Given the description of an element on the screen output the (x, y) to click on. 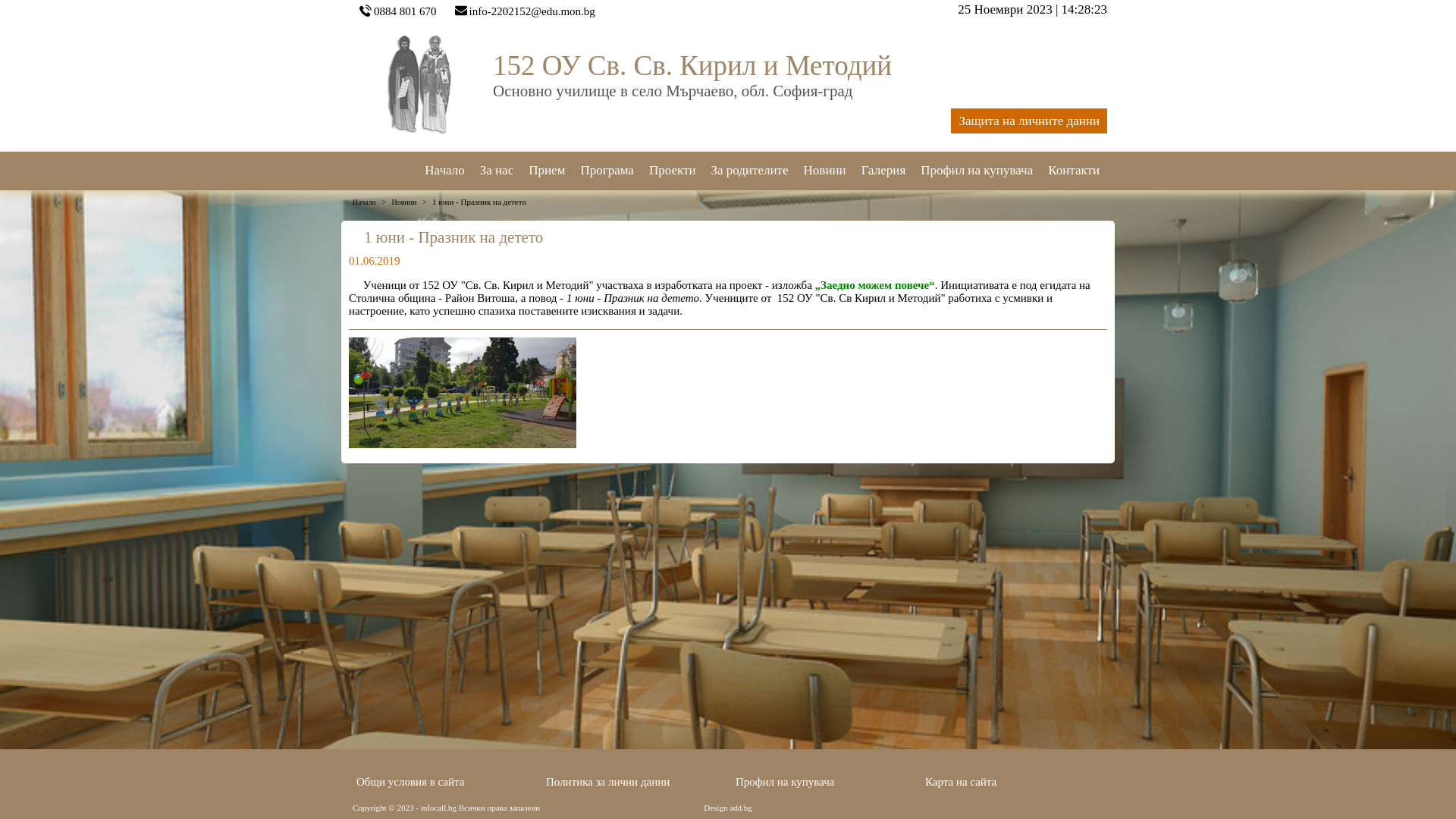
0884 801 670 Element type: text (404, 11)
Design add.bg Element type: text (727, 807)
info-2202152@edu.mon.bg Element type: text (531, 11)
